Given the description of an element on the screen output the (x, y) to click on. 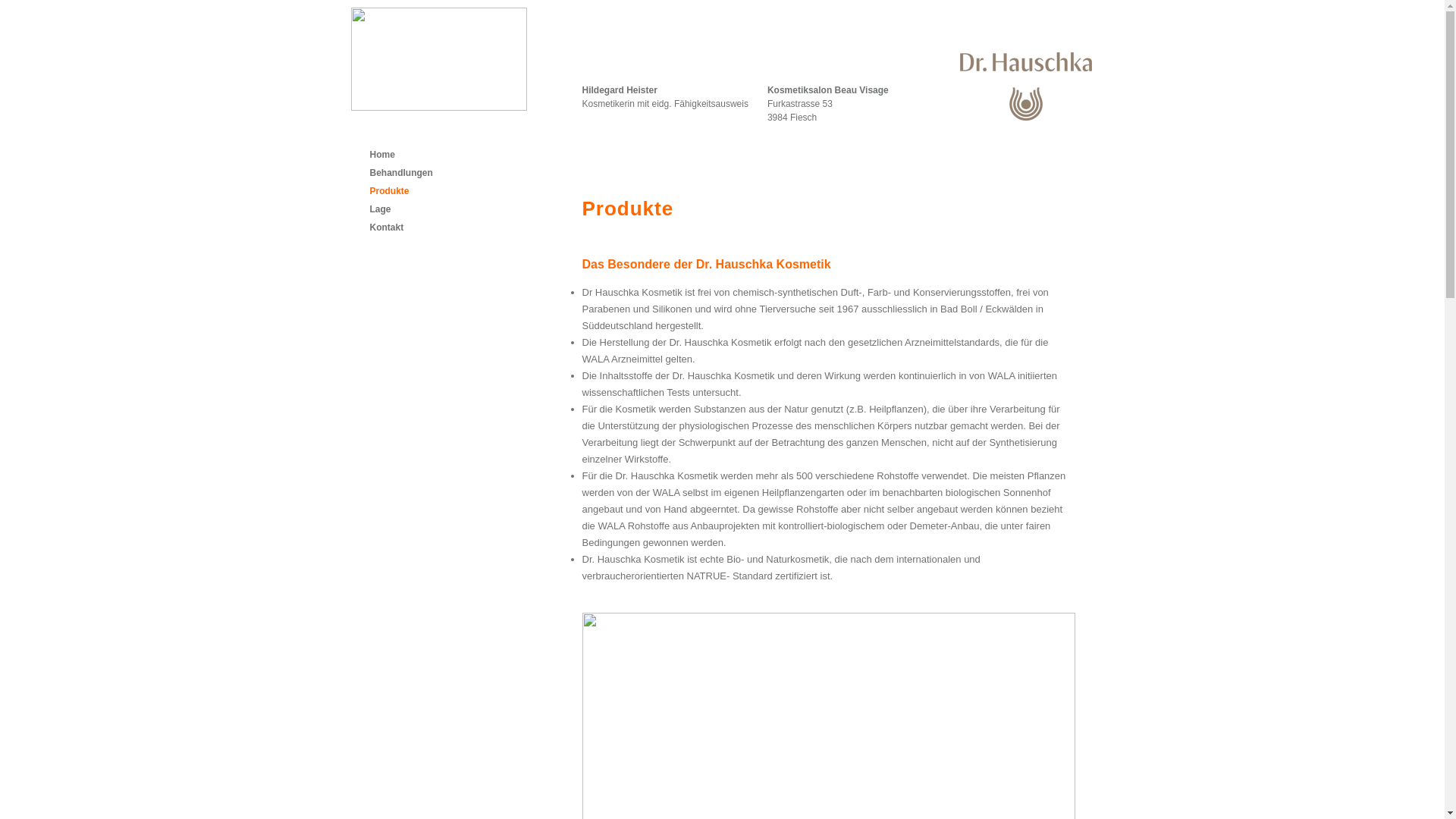
Lage Element type: text (380, 208)
Home Element type: text (382, 154)
Behandlungen Element type: text (401, 172)
Produkte Element type: text (389, 190)
Kontakt Element type: text (387, 227)
